Given the description of an element on the screen output the (x, y) to click on. 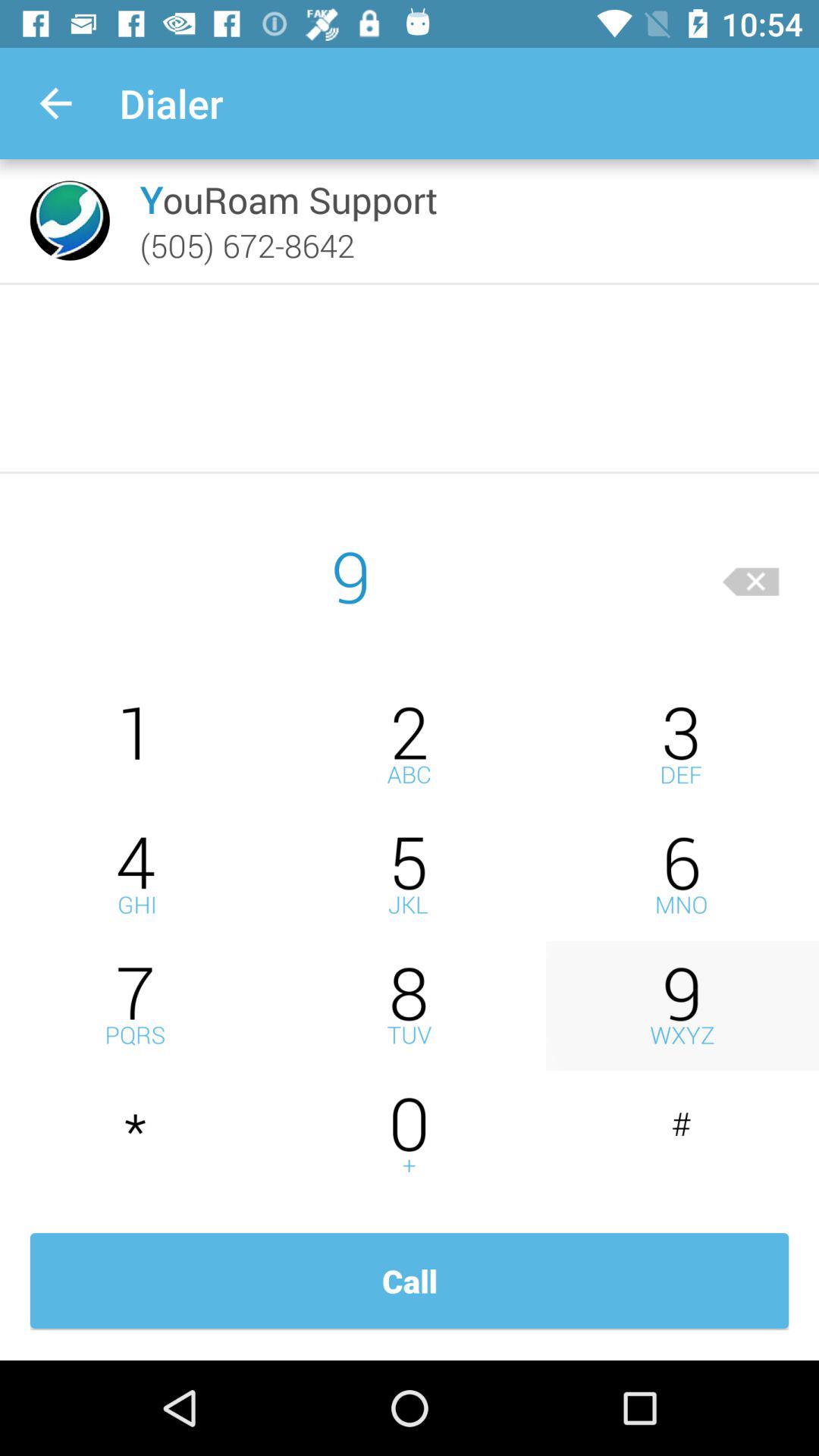
click the number 8 (409, 1005)
